Given the description of an element on the screen output the (x, y) to click on. 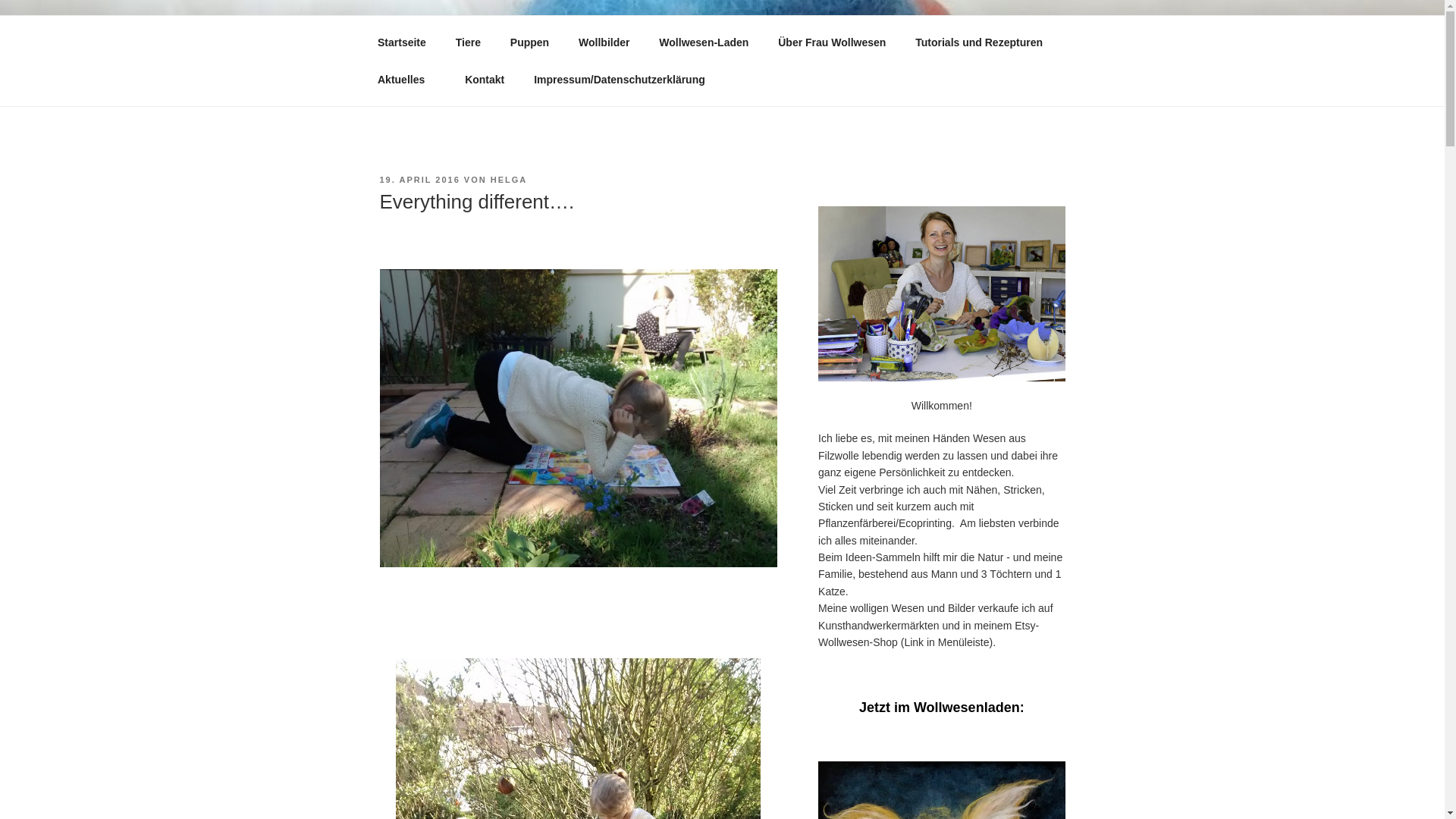
Aktuelles (406, 78)
Puppen (529, 42)
Kontakt (484, 78)
Wollbilder (604, 42)
WOLLWESEN (478, 52)
Tutorials und Rezepturen (979, 42)
HELGA (508, 179)
Startseite (401, 42)
Tiere (467, 42)
Wollwesen-Laden (703, 42)
